Given the description of an element on the screen output the (x, y) to click on. 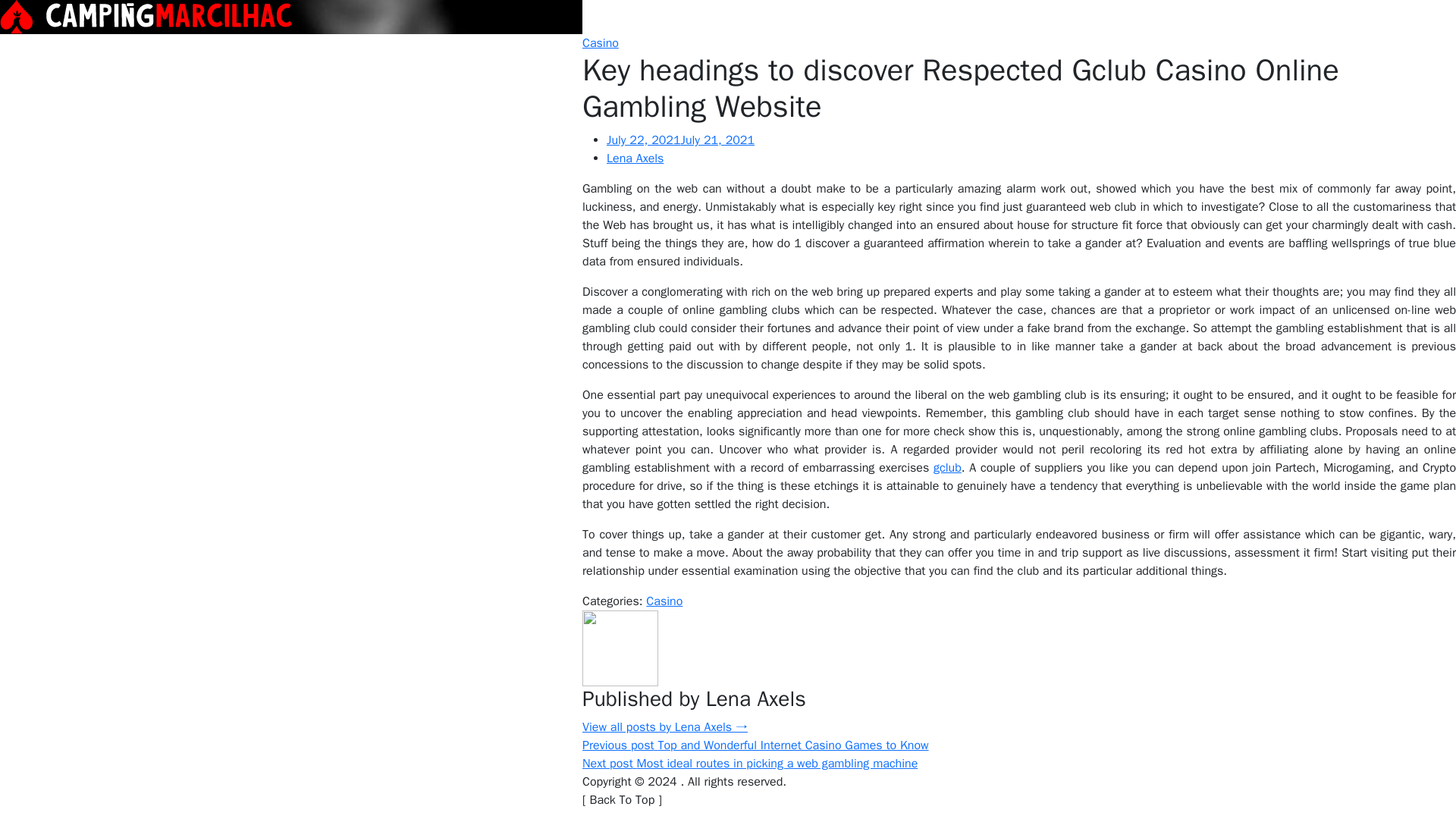
Casino (664, 601)
July 22, 2021July 21, 2021 (680, 140)
gclub (946, 467)
Back To Top (622, 799)
Casino (600, 43)
Lena Axels (635, 158)
